Given the description of an element on the screen output the (x, y) to click on. 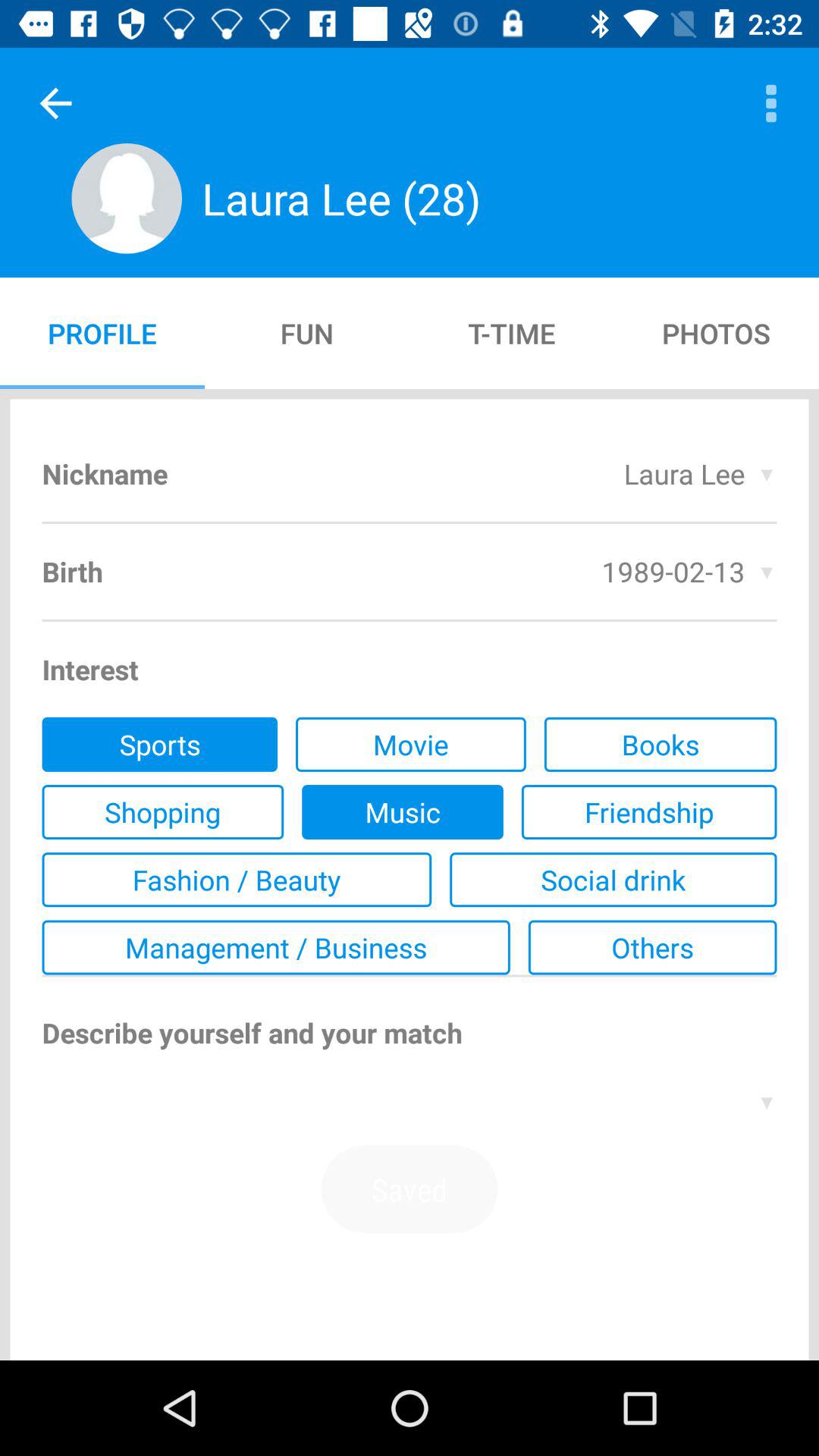
click the item next to movie (159, 744)
